Given the description of an element on the screen output the (x, y) to click on. 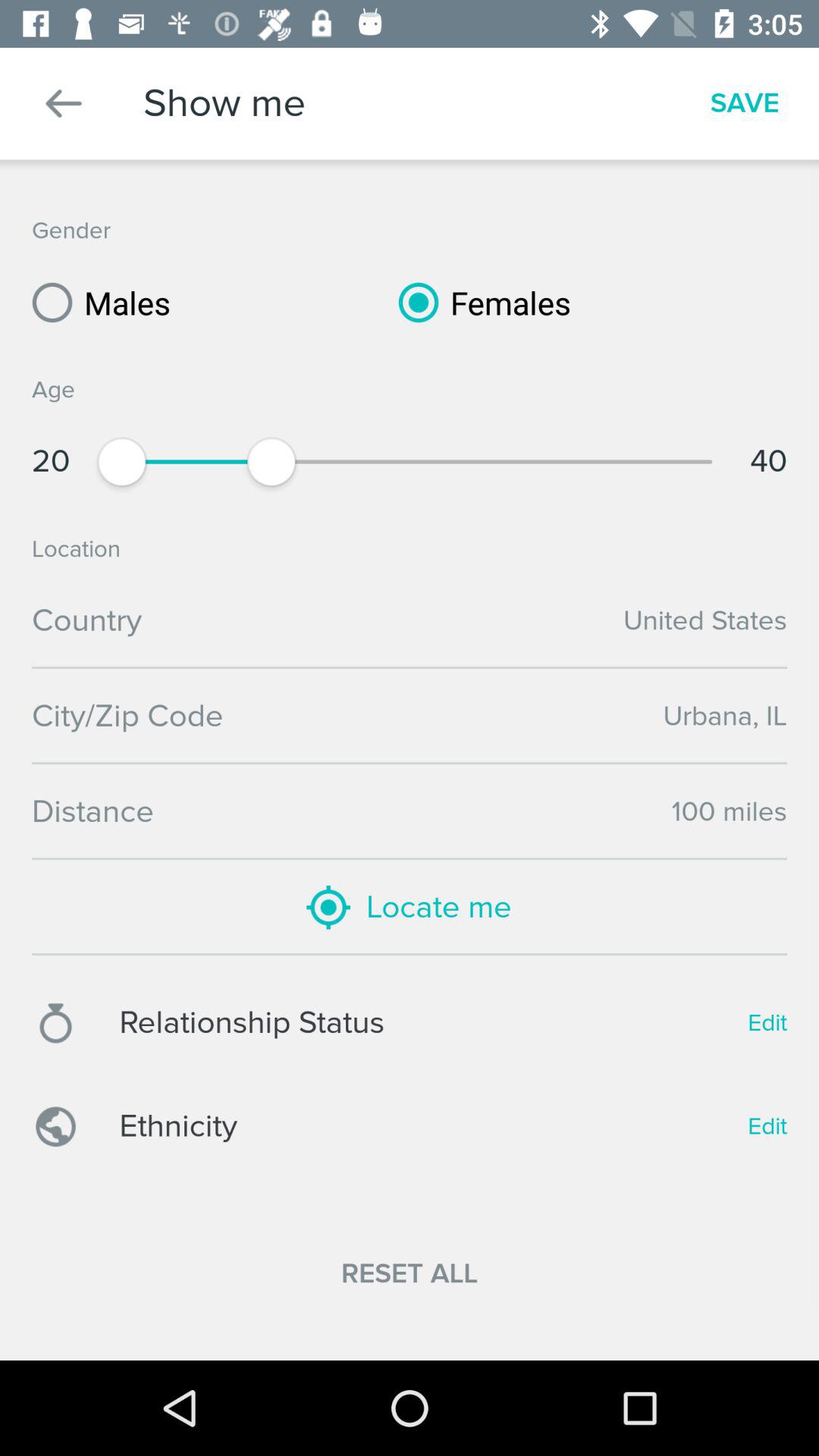
launch the males item (95, 302)
